Given the description of an element on the screen output the (x, y) to click on. 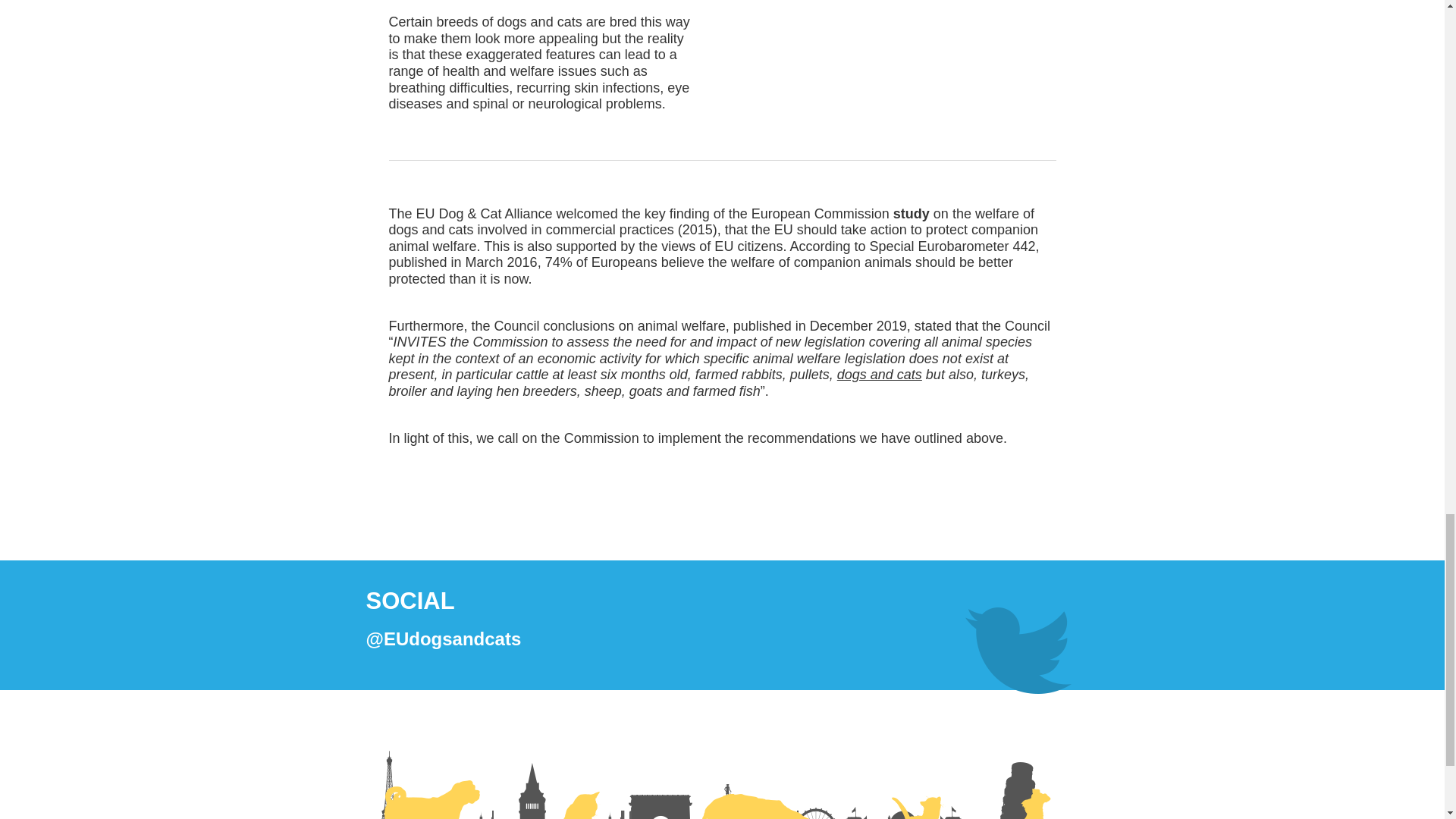
study (911, 213)
